Given the description of an element on the screen output the (x, y) to click on. 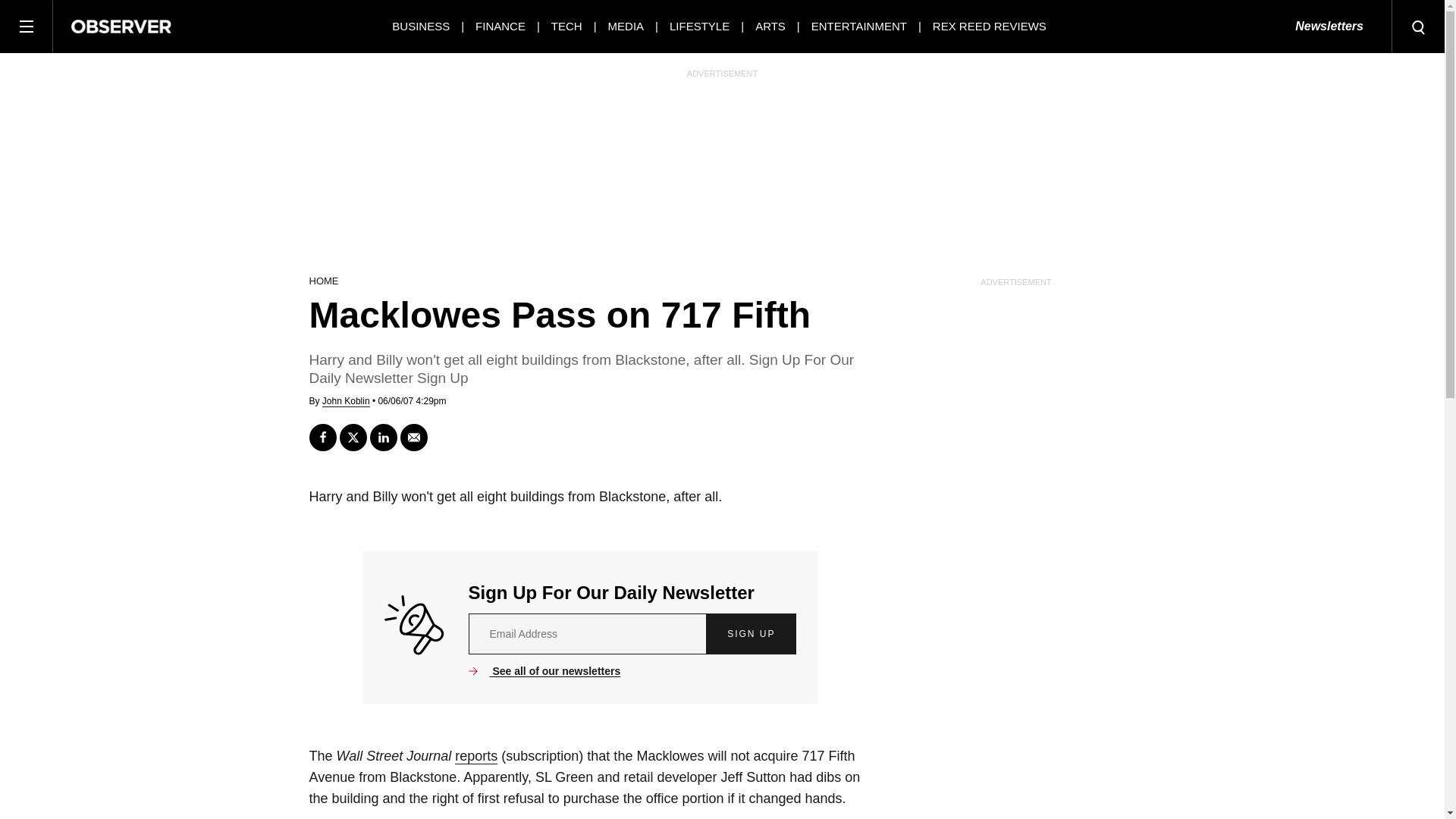
Observer (121, 26)
Share on LinkedIn (383, 437)
REX REED REVIEWS (989, 25)
Newsletters (1329, 26)
BUSINESS (420, 25)
LIFESTYLE (699, 25)
ARTS (770, 25)
ENTERTAINMENT (858, 25)
Tweet (352, 437)
Send email (414, 437)
FINANCE (500, 25)
TECH (566, 25)
Share on Facebook (322, 437)
View All Posts by John Koblin (345, 401)
MEDIA (626, 25)
